Given the description of an element on the screen output the (x, y) to click on. 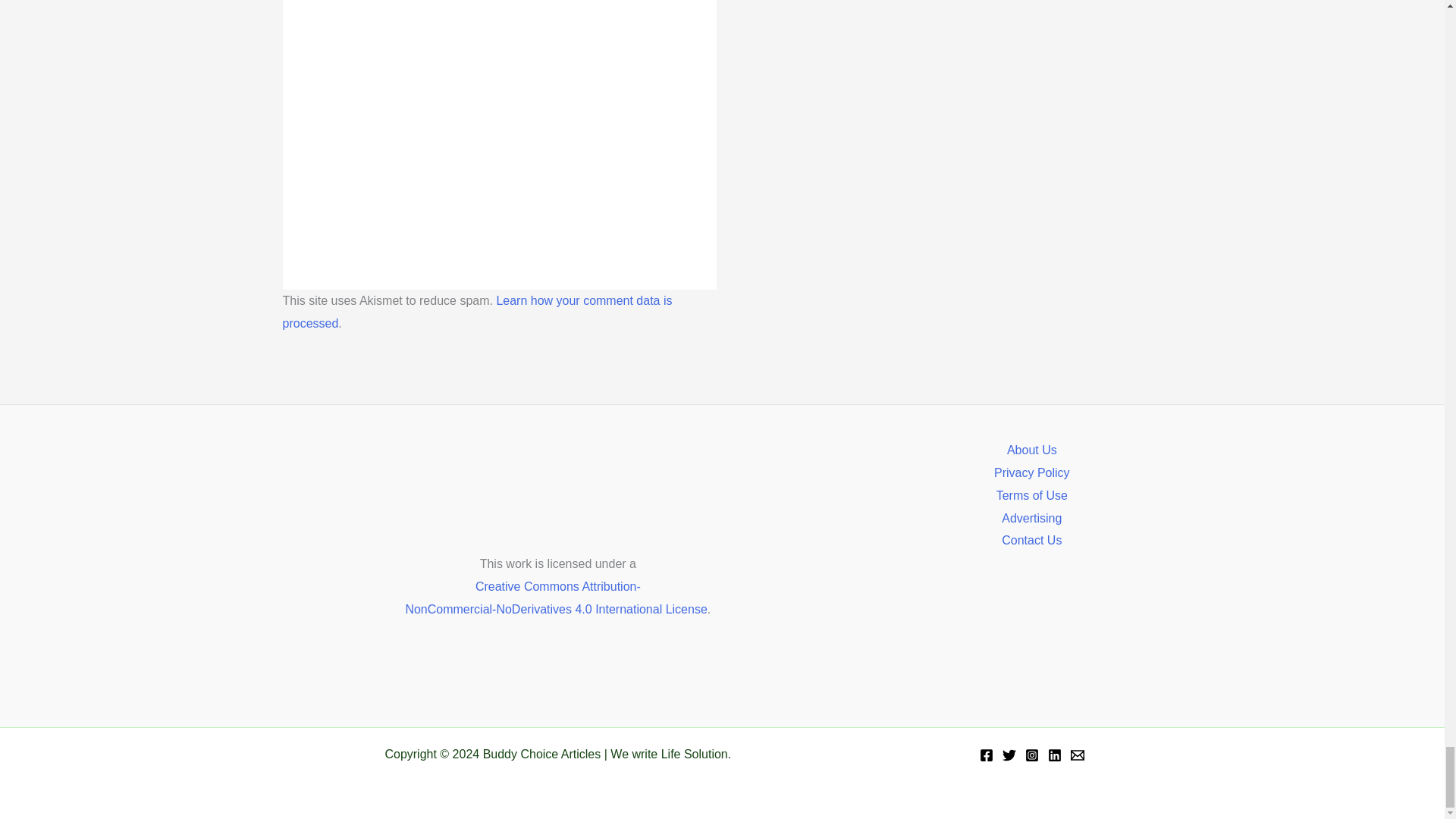
Comment Form (498, 122)
